Given the description of an element on the screen output the (x, y) to click on. 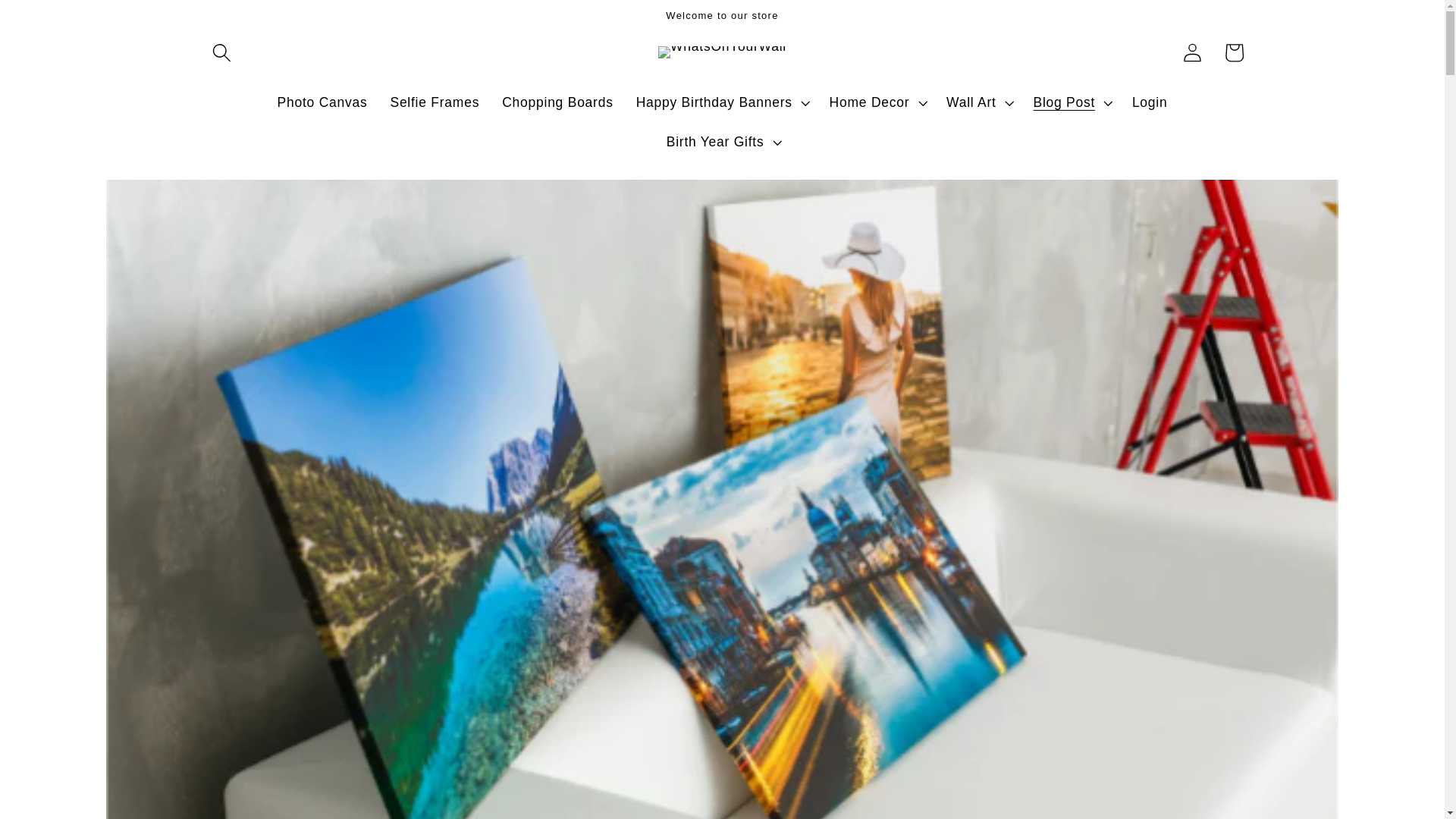
Skip to content (61, 25)
Photo Canvas (322, 102)
Selfie Frames (434, 102)
Chopping Boards (557, 102)
